Given the description of an element on the screen output the (x, y) to click on. 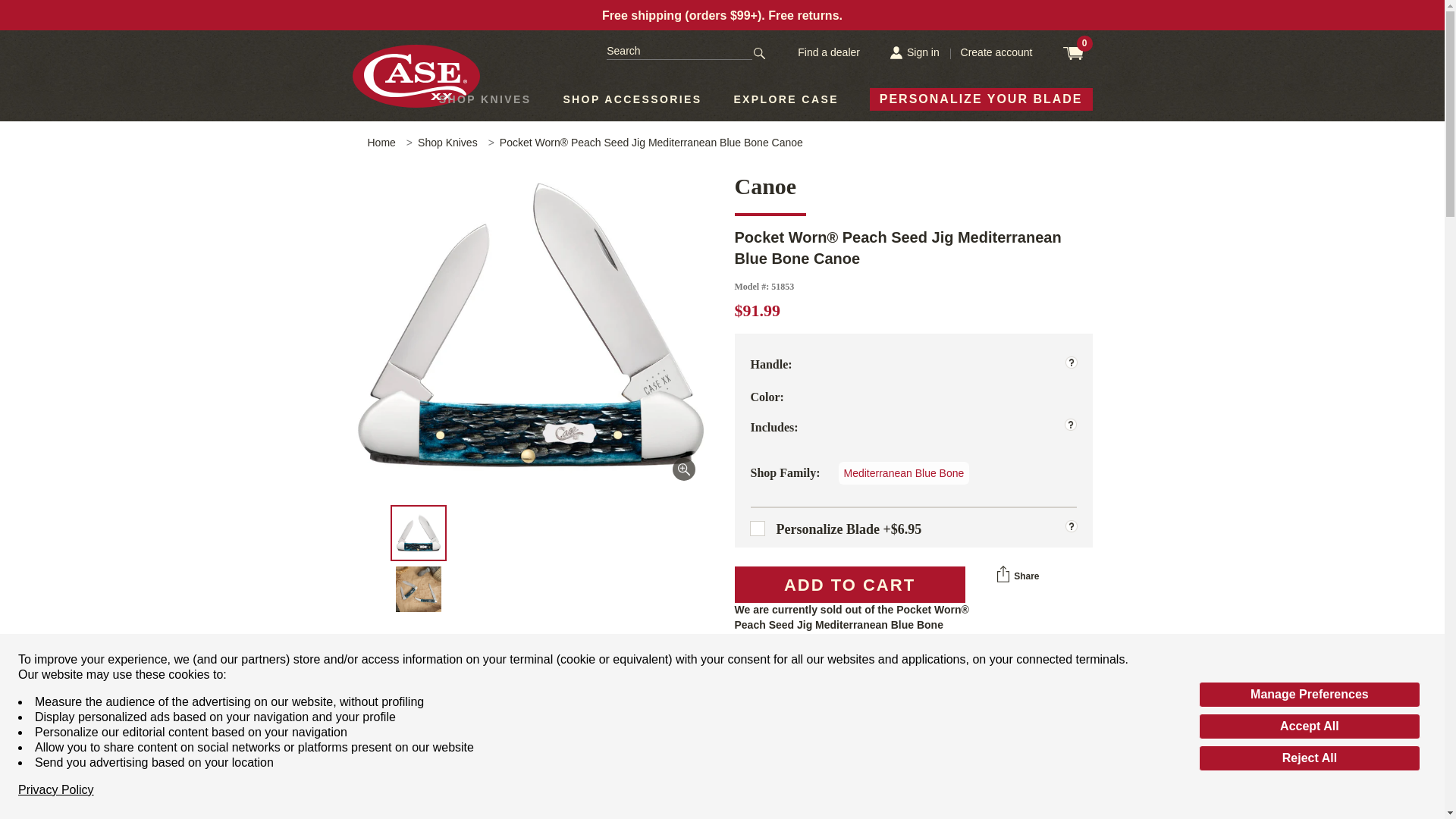
0 (1077, 53)
EXPLORE CASE (785, 98)
Accept All (1309, 726)
SHOP KNIVES (485, 98)
Privacy Policy (55, 789)
cart (1077, 53)
PERSONALIZE YOUR BLADE (981, 98)
Personalize Your Blade (981, 98)
Manage Preferences (1309, 694)
Create account (996, 51)
SHOP ACCESSORIES (632, 98)
Reject All (1309, 758)
Search (759, 50)
Back to the home page (380, 142)
Sign in (914, 52)
